Given the description of an element on the screen output the (x, y) to click on. 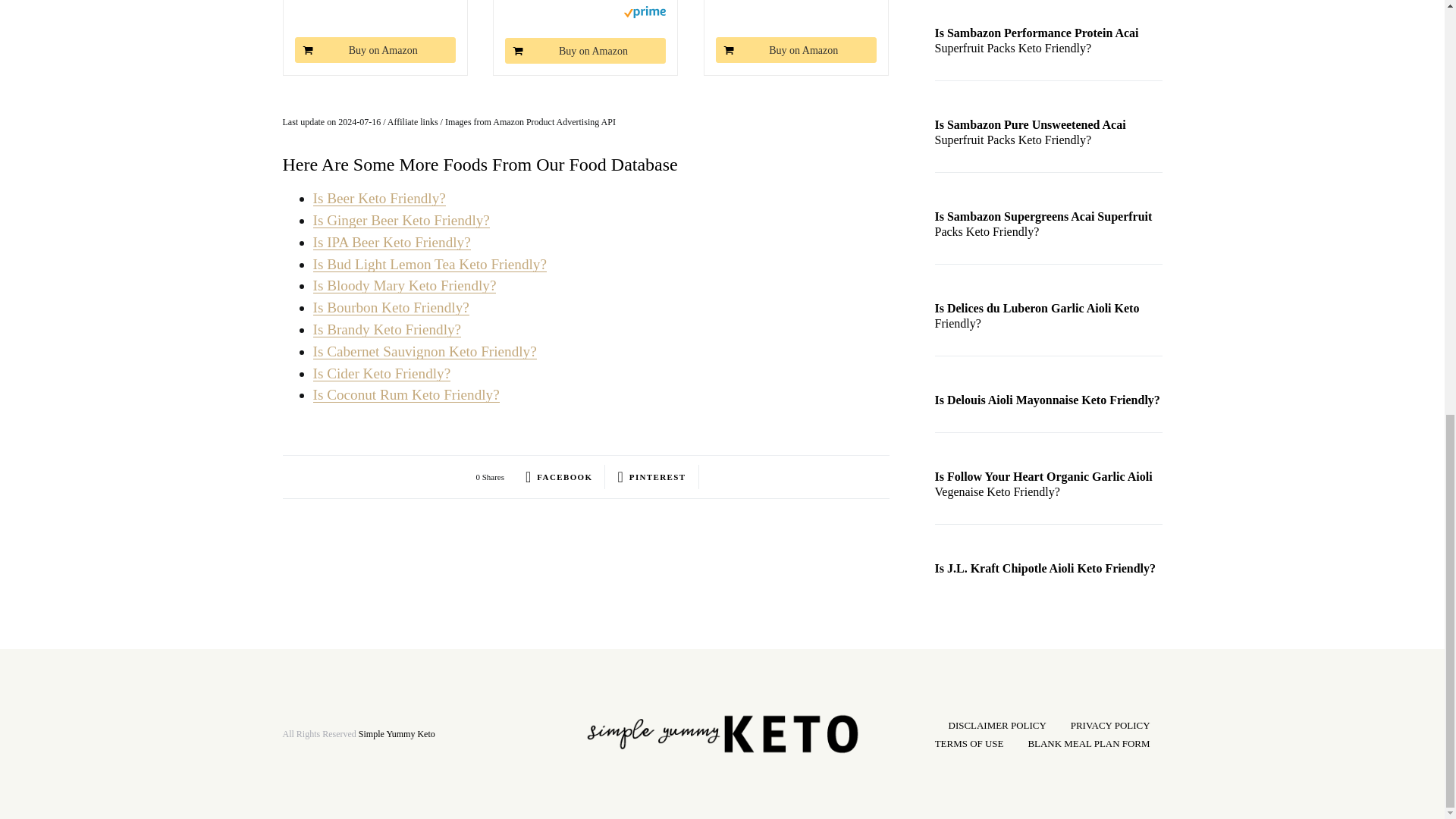
Is Cider Keto Friendly? (381, 373)
Is Beer Keto Friendly? (379, 198)
PINTEREST (651, 476)
Buy on Amazon (375, 49)
Is Coconut Rum Keto Friendly? (406, 394)
Buy on Amazon (375, 49)
Buy on Amazon (585, 50)
Is Brandy Keto Friendly? (387, 329)
Is Bourbon Keto Friendly? (390, 307)
FACEBOOK (558, 476)
Is IPA Beer Keto Friendly? (391, 242)
Buy on Amazon (796, 49)
Is Bud Light Lemon Tea Keto Friendly? (429, 263)
Is Ginger Beer Keto Friendly? (401, 220)
Is Cabernet Sauvignon Keto Friendly? (424, 351)
